Given the description of an element on the screen output the (x, y) to click on. 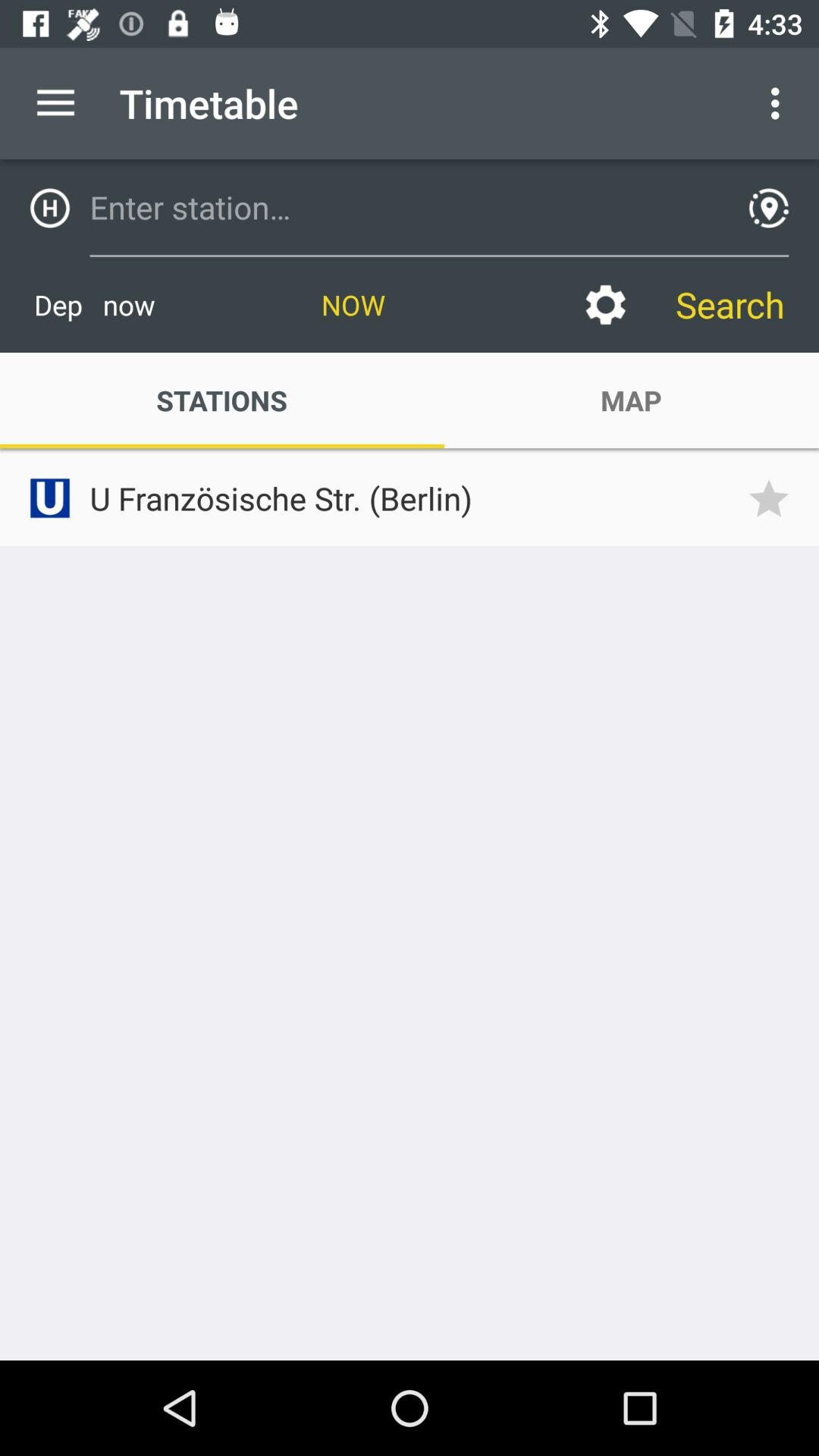
enter station search box (403, 206)
